Given the description of an element on the screen output the (x, y) to click on. 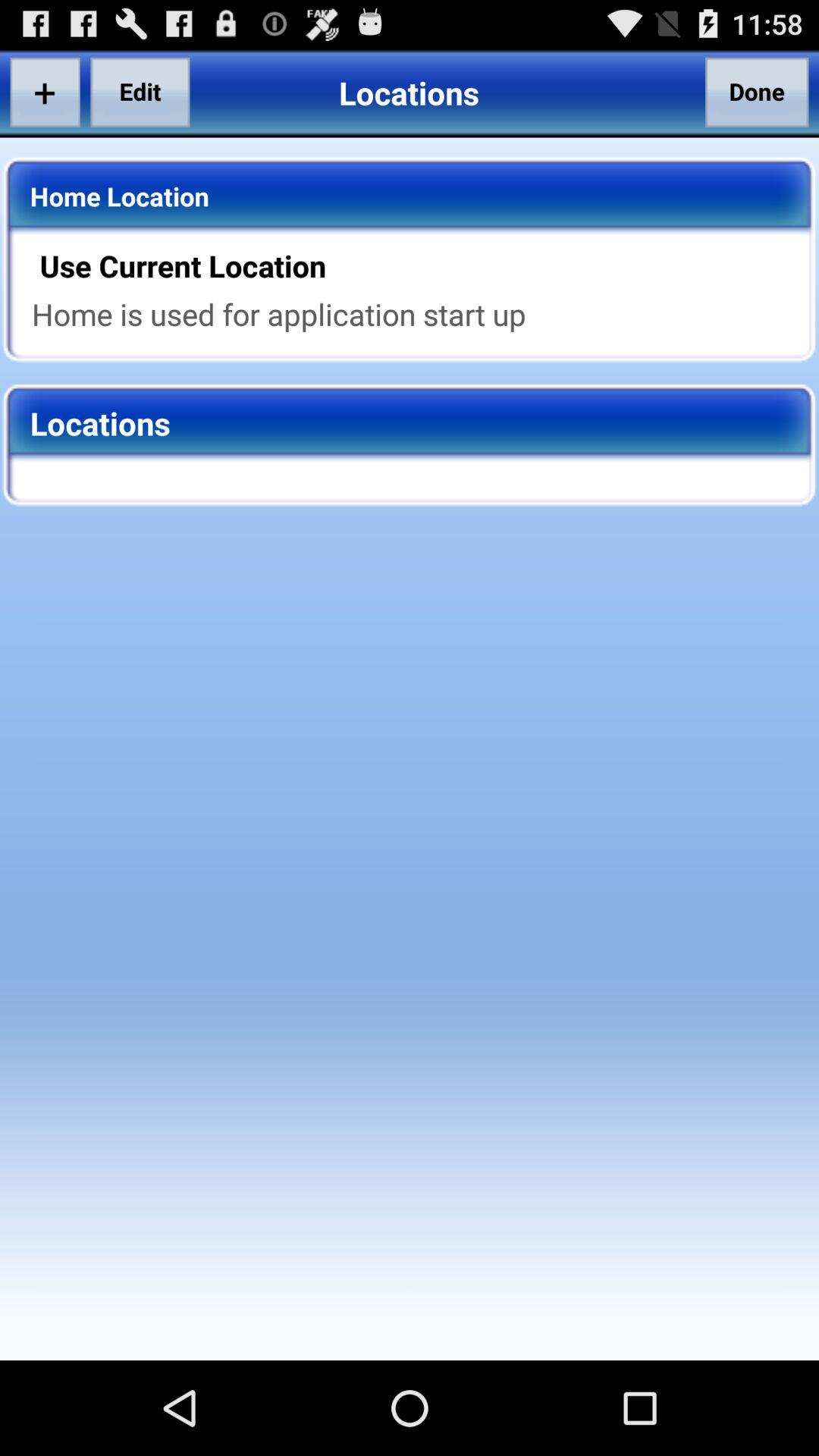
launch the done icon (756, 92)
